Given the description of an element on the screen output the (x, y) to click on. 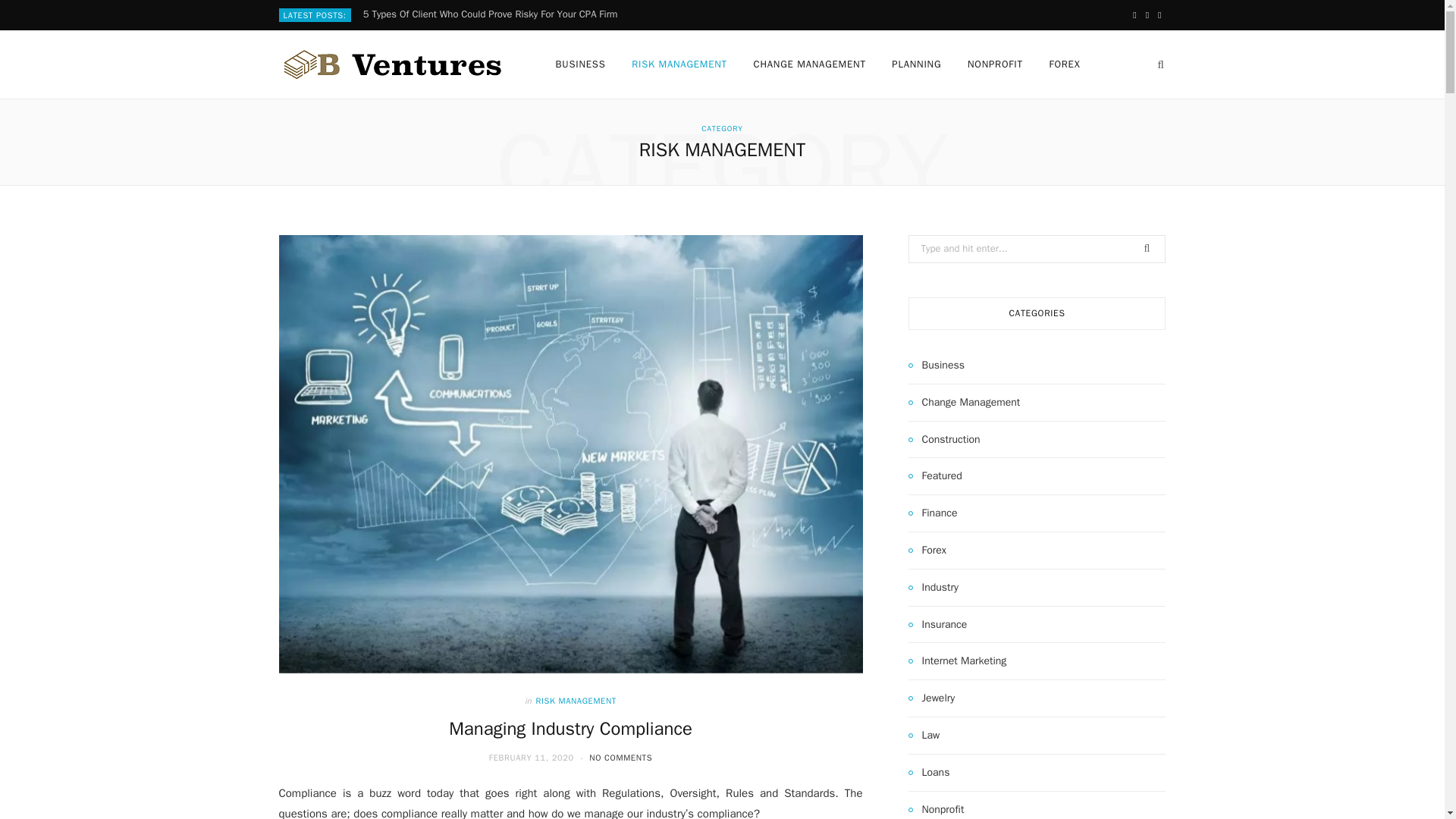
NO COMMENTS (620, 757)
Managing Industry Compliance (570, 728)
BUSINESS (580, 64)
5 Types Of Client Who Could Prove Risky For Your CPA Firm (494, 14)
NONPROFIT (994, 64)
CHANGE MANAGEMENT (809, 64)
B-Ventures (392, 63)
5 Types Of Client Who Could Prove Risky For Your CPA Firm (494, 14)
PLANNING (916, 64)
RISK MANAGEMENT (679, 64)
RISK MANAGEMENT (575, 700)
FEBRUARY 11, 2020 (532, 757)
